Given the description of an element on the screen output the (x, y) to click on. 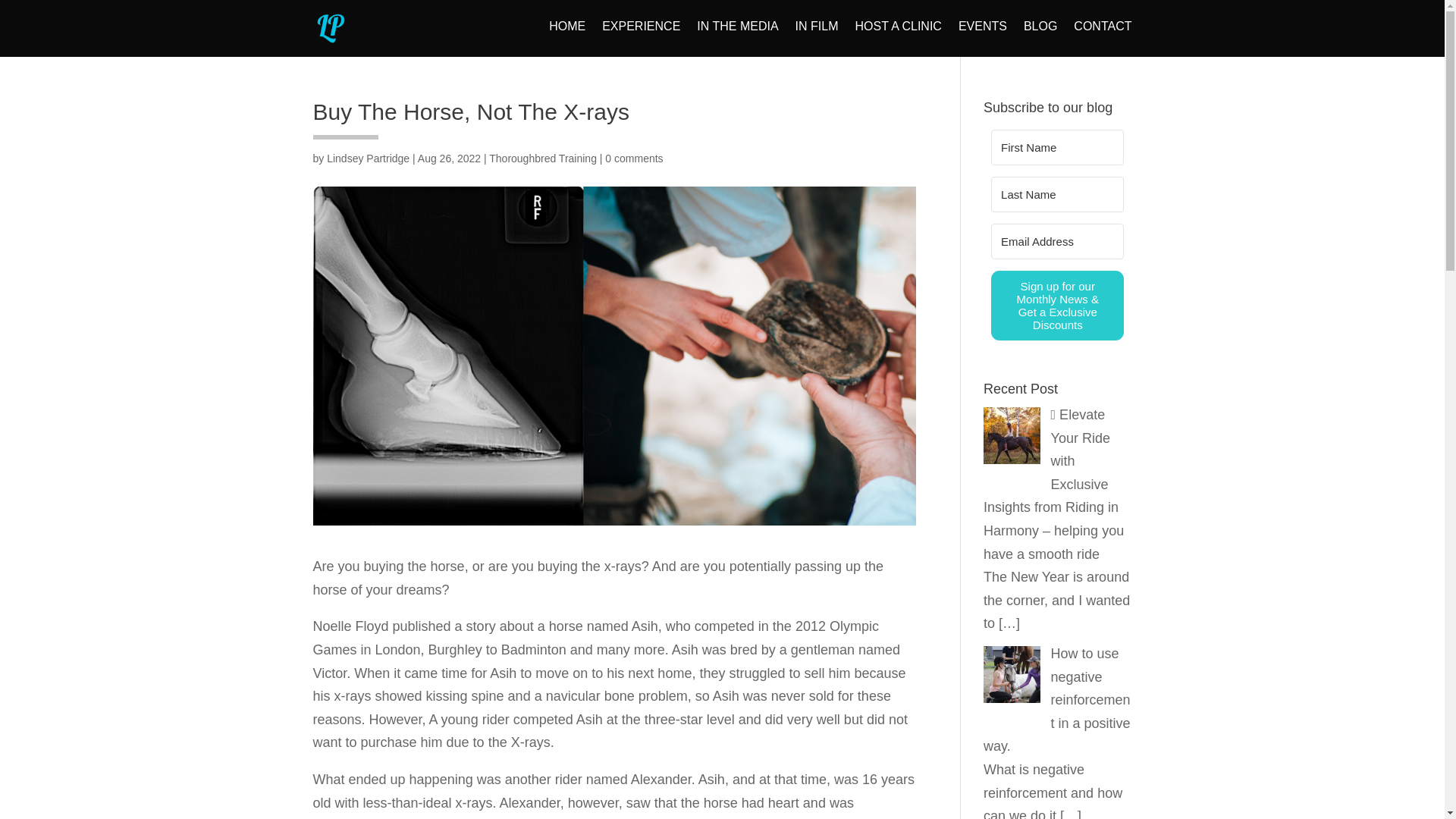
Posts by Lindsey Partridge (367, 158)
Thoroughbred Training (542, 158)
Lindsey Partridge (367, 158)
HOME (566, 38)
How to use negative reinforcement in a positive way. (1057, 699)
EVENTS (982, 38)
0 comments (633, 158)
IN THE MEDIA (737, 38)
IN FILM (816, 38)
CONTACT (1102, 38)
BLOG (1040, 38)
EXPERIENCE (640, 38)
HOST A CLINIC (897, 38)
